Given the description of an element on the screen output the (x, y) to click on. 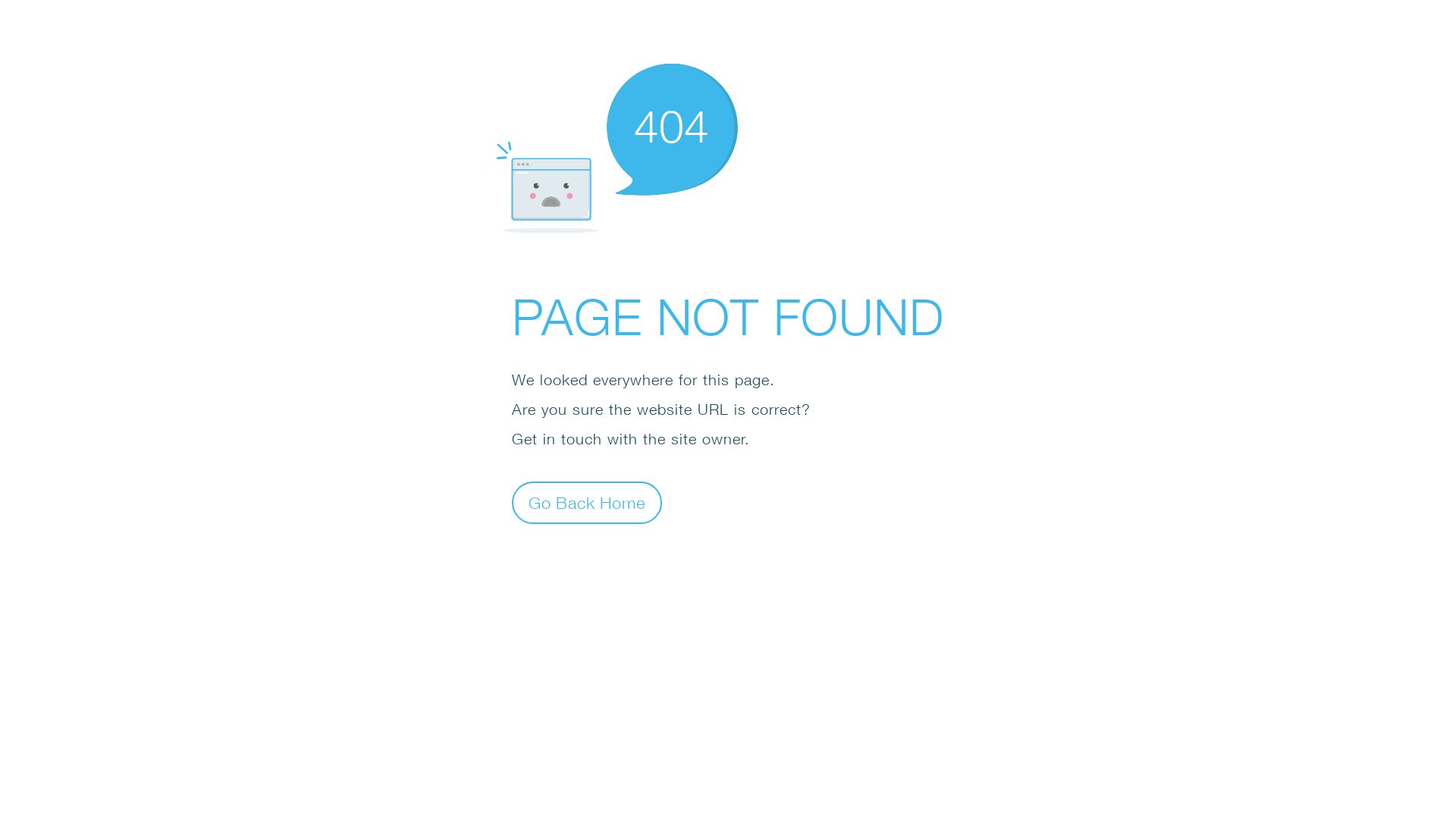
Go Back Home Element type: text (586, 502)
